Given the description of an element on the screen output the (x, y) to click on. 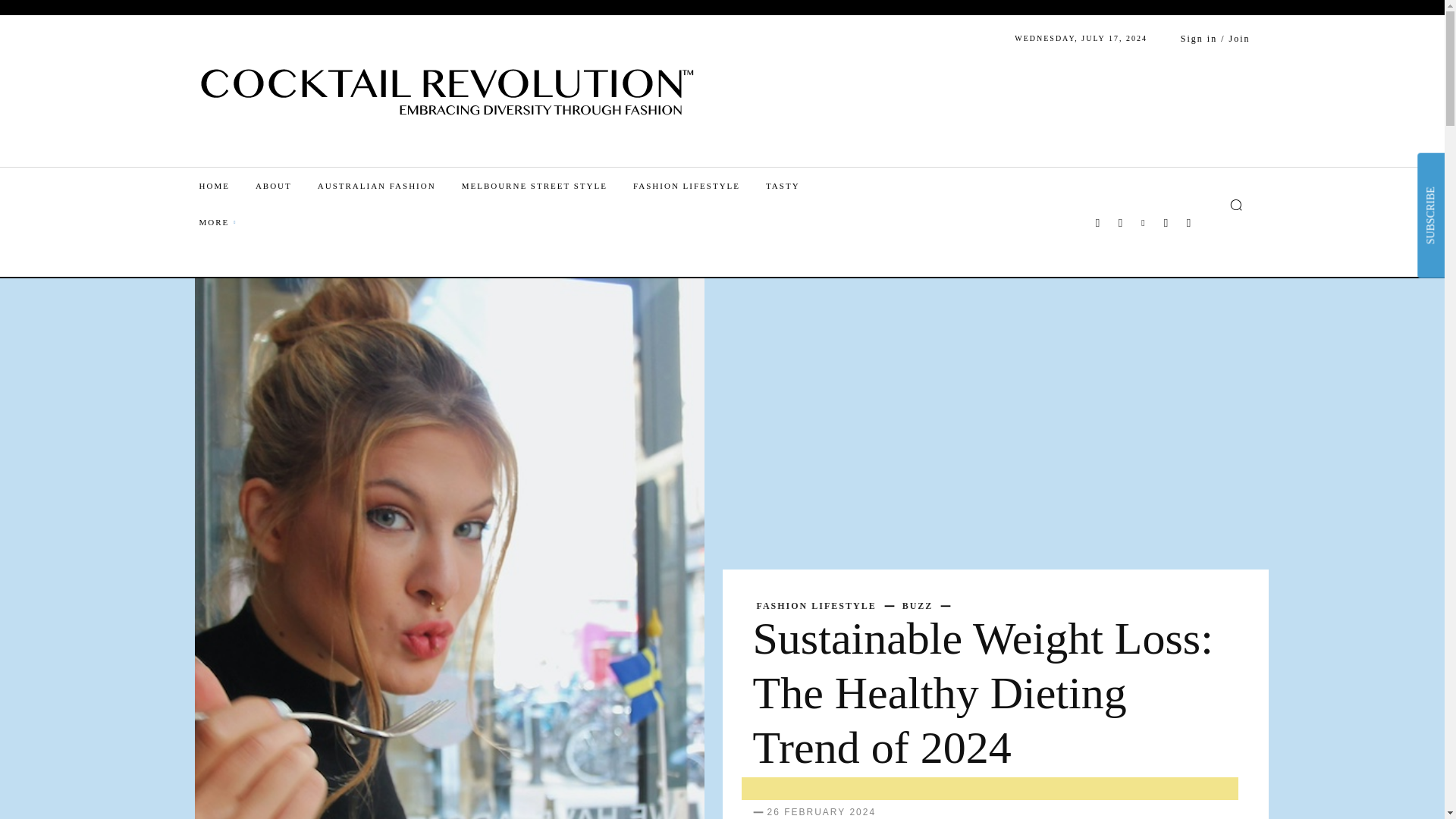
BUZZ (917, 605)
TASTY (795, 185)
MELBOURNE STREET STYLE (547, 185)
Youtube (1187, 222)
AUSTRALIAN FASHION (389, 185)
Twitter (1165, 222)
Pinterest (1142, 222)
HOME (226, 185)
ABOUT (286, 185)
EMBRACING DIVERSITY THROUGH FASHION (450, 84)
Facebook (1097, 222)
FASHION LIFESTYLE (699, 185)
FASHION LIFESTYLE (816, 605)
Instagram (1119, 222)
